Given the description of an element on the screen output the (x, y) to click on. 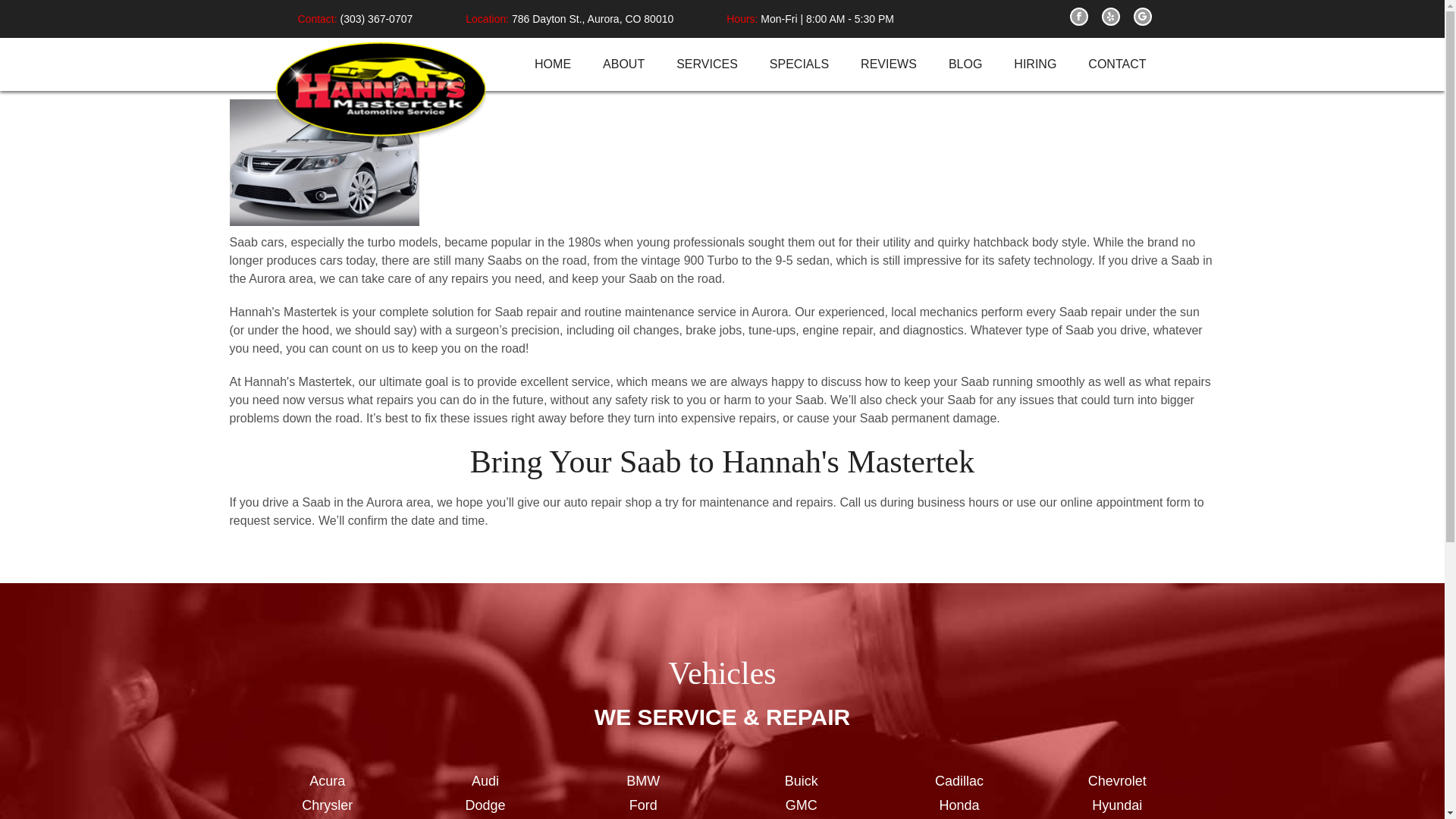
Chrysler (327, 805)
BLOG (965, 64)
Buick (800, 781)
BMW (643, 781)
786 Dayton St., Aurora, CO 80010 (592, 18)
REVIEWS (888, 64)
Chevrolet (1116, 781)
CONTACT (1116, 64)
Dodge (485, 805)
Hyundai (1116, 805)
